Given the description of an element on the screen output the (x, y) to click on. 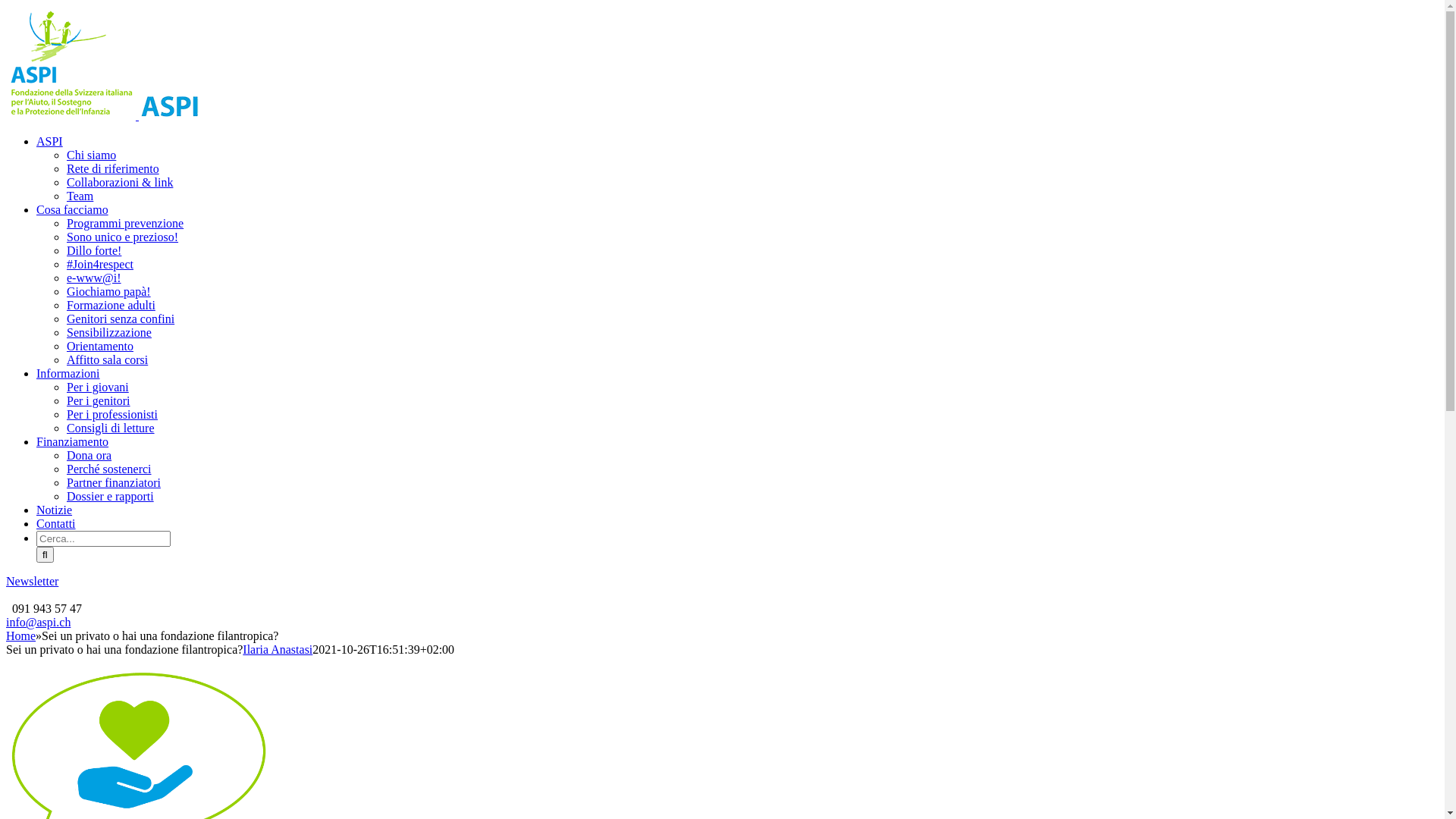
Rete di riferimento Element type: text (112, 168)
Cosa facciamo Element type: text (72, 209)
Partner finanziatori Element type: text (113, 482)
Per i genitori Element type: text (98, 400)
#Join4respect Element type: text (99, 263)
Affitto sala corsi Element type: text (106, 359)
info@aspi.ch Element type: text (38, 621)
Genitori senza confini Element type: text (120, 318)
e-www@i! Element type: text (93, 277)
Formazione adulti Element type: text (110, 304)
Contatti Element type: text (55, 523)
Chi siamo Element type: text (91, 154)
Salta al contenuto Element type: text (5, 5)
Team Element type: text (79, 195)
Dossier e rapporti Element type: text (109, 495)
Per i professionisti Element type: text (111, 413)
Dillo forte! Element type: text (93, 250)
ASPI Element type: text (49, 140)
Consigli di letture Element type: text (110, 427)
Programmi prevenzione Element type: text (124, 222)
Sensibilizzazione Element type: text (108, 332)
Per i giovani Element type: text (97, 386)
Sono unico e prezioso! Element type: text (122, 236)
Collaborazioni & link Element type: text (119, 181)
Informazioni Element type: text (68, 373)
Orientamento Element type: text (99, 345)
Dona ora Element type: text (88, 454)
Newsletter Element type: text (32, 580)
Notizie Element type: text (54, 509)
Finanziamento Element type: text (72, 441)
Home Element type: text (20, 635)
Ilaria Anastasi Element type: text (277, 649)
